Given the description of an element on the screen output the (x, y) to click on. 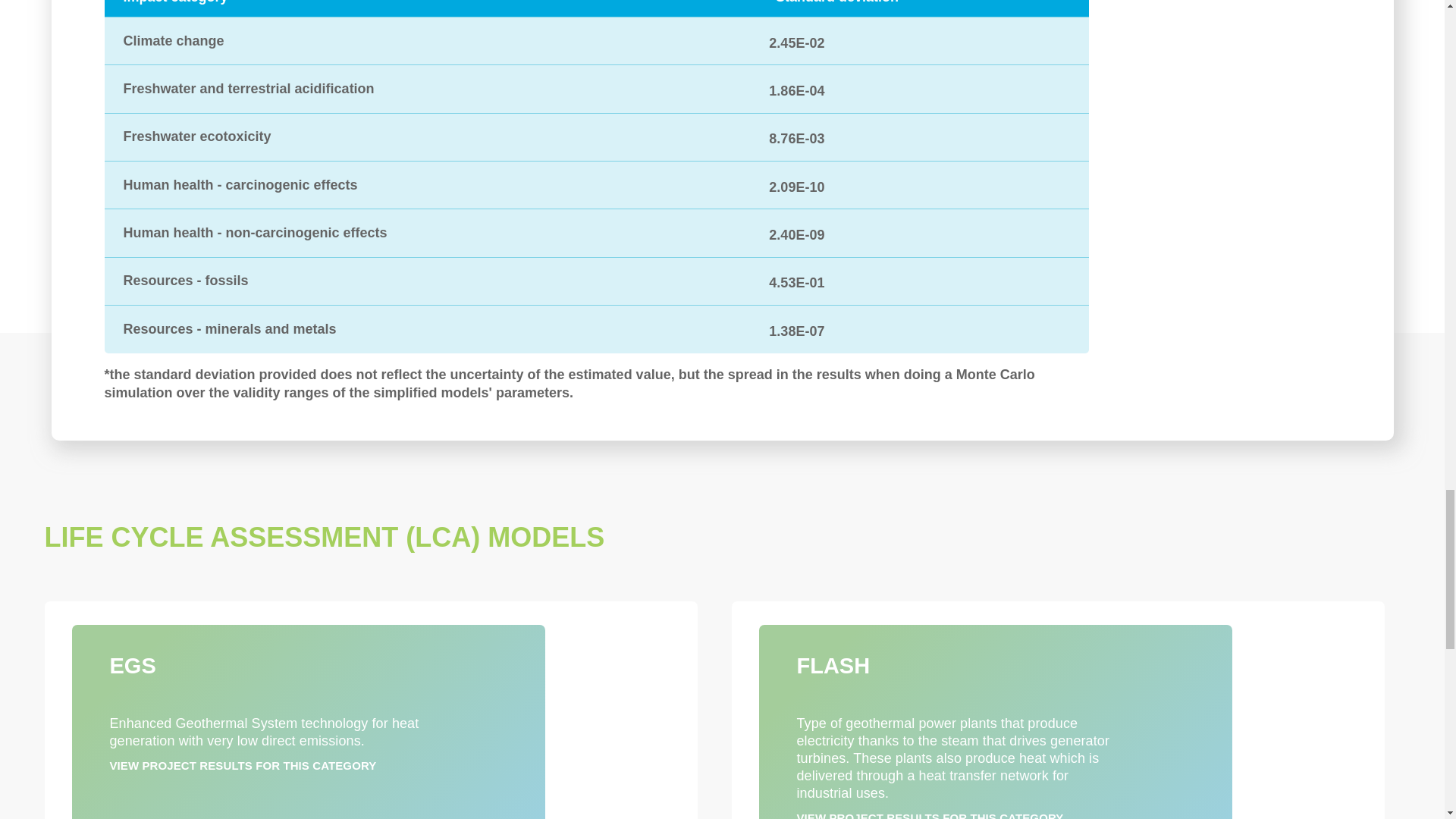
VIEW PROJECT RESULTS FOR THIS CATEGORY (929, 815)
VIEW PROJECT RESULTS FOR THIS CATEGORY (242, 765)
2.45E-02 (797, 40)
